Given the description of an element on the screen output the (x, y) to click on. 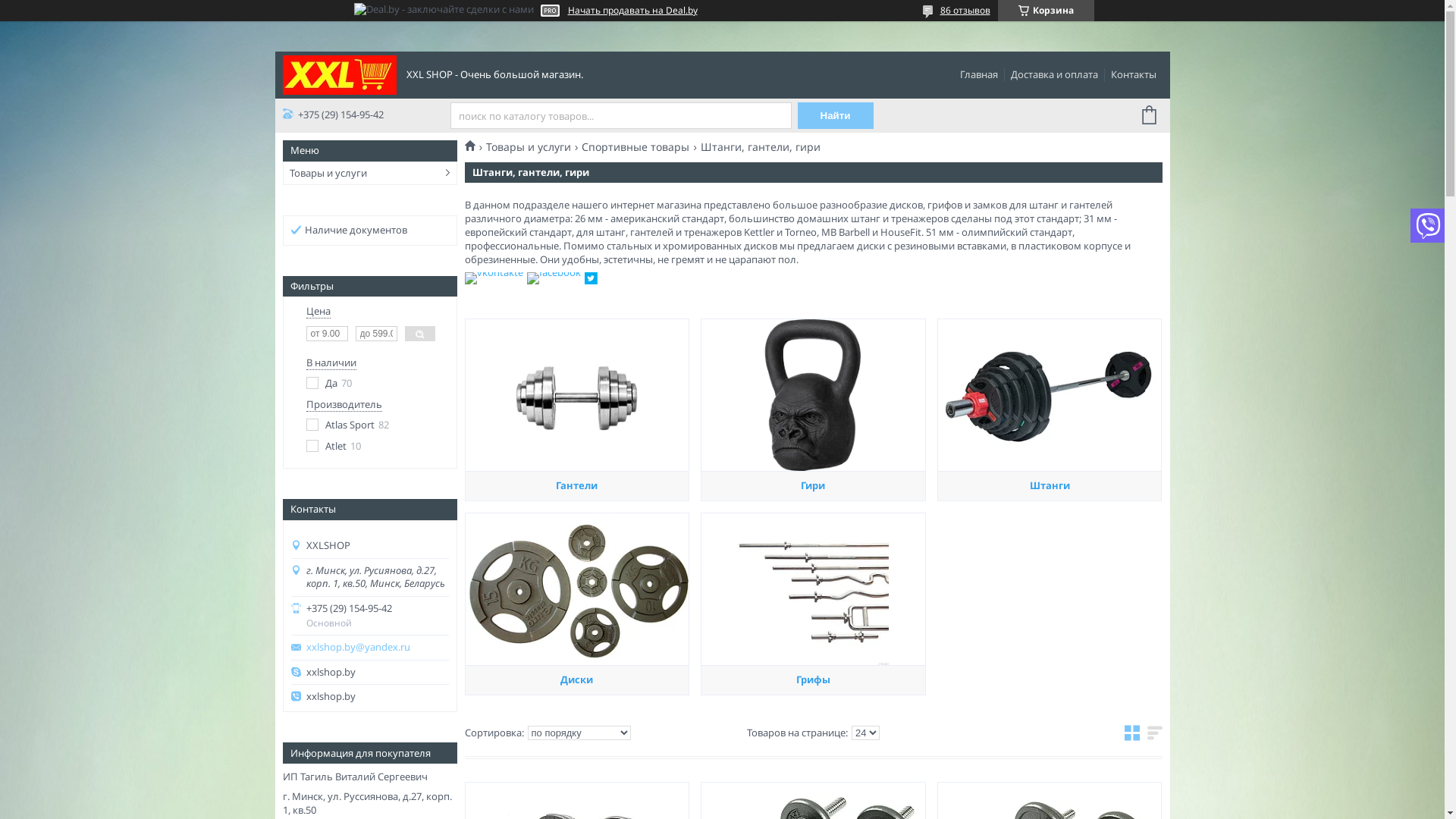
facebook Element type: hover (553, 272)
Xxlshop Element type: hover (474, 145)
XXLSHOP Element type: hover (338, 73)
twitter Element type: hover (589, 280)
xxlshop.by@yandex.ru Element type: text (377, 647)
